Given the description of an element on the screen output the (x, y) to click on. 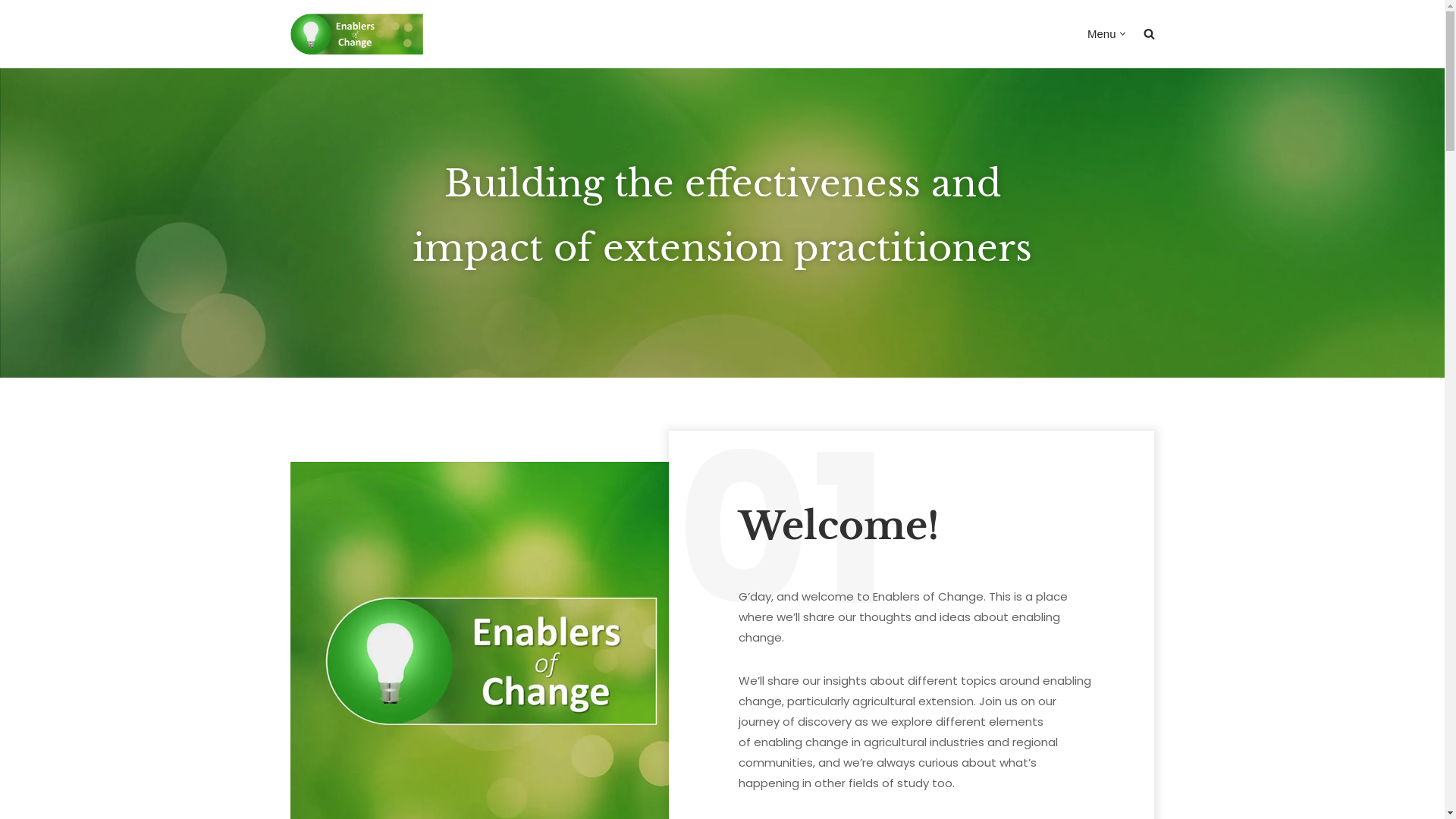
Skip to content Element type: text (11, 31)
Menu Element type: text (1101, 33)
